Given the description of an element on the screen output the (x, y) to click on. 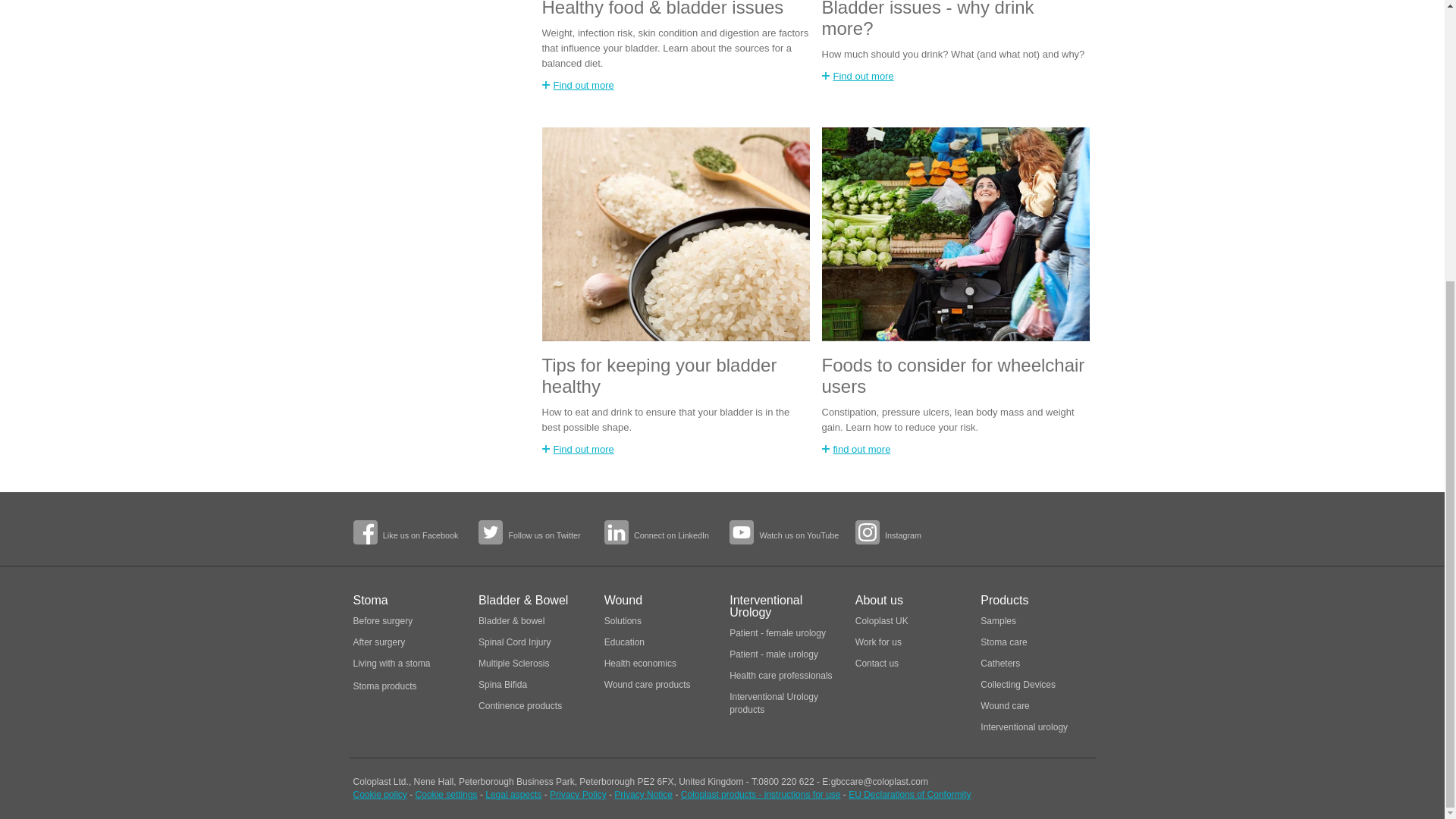
Ostomy Products (384, 685)
living with a Stoma (391, 663)
More about Multiple Sclerosis (513, 663)
Bladder and Bowel (511, 620)
More about Spinal Cord Injury (514, 642)
After Stoma Surgery (379, 642)
Before Stoma Surgery (383, 620)
